Given the description of an element on the screen output the (x, y) to click on. 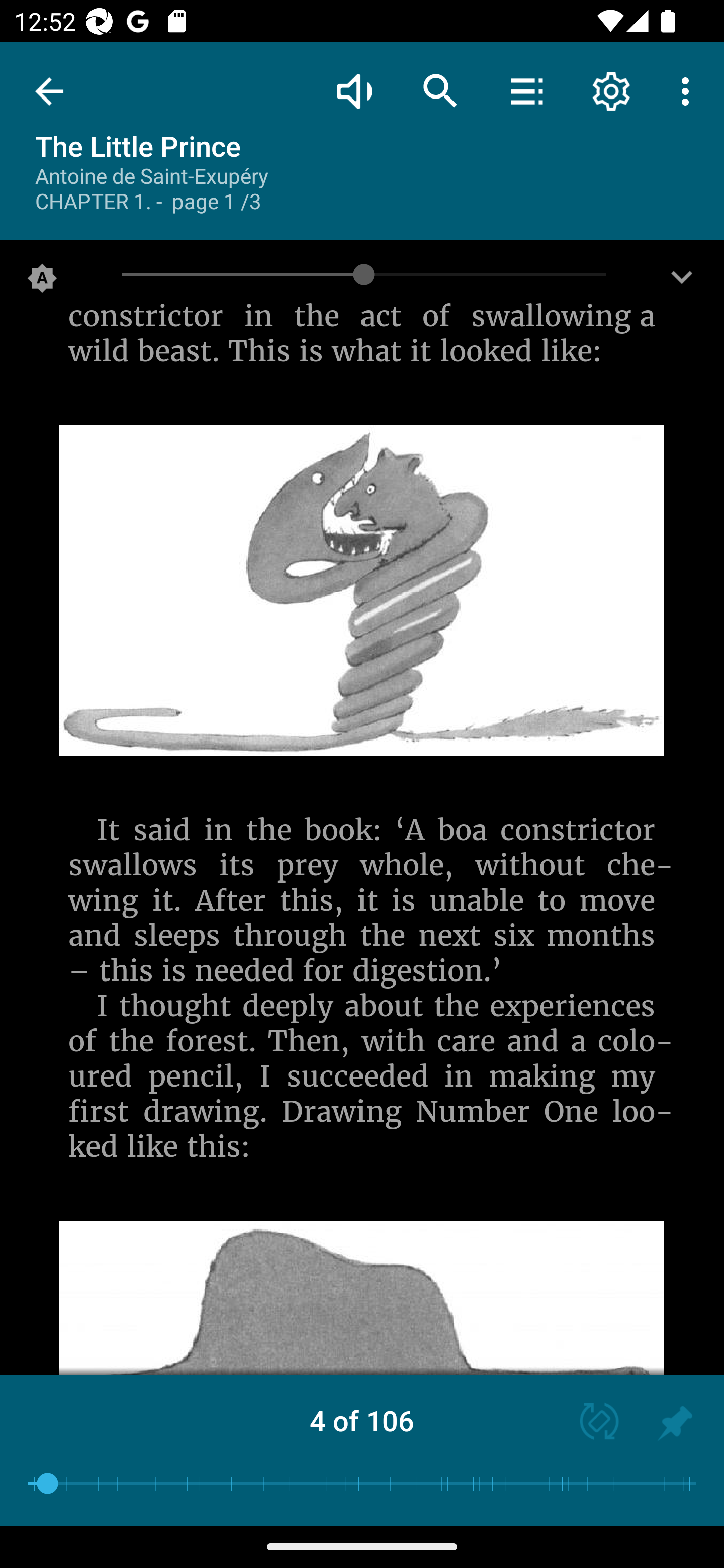
Exit reading (49, 91)
Read aloud (354, 90)
Text search (440, 90)
Contents / Bookmarks / Quotes (526, 90)
Reading settings (611, 90)
More options (688, 90)
Selected screen brightness (42, 281)
Screen brightness settings (681, 281)
4 of 106 (361, 1420)
Screen orientation (590, 1423)
Add to history (674, 1423)
